Given the description of an element on the screen output the (x, y) to click on. 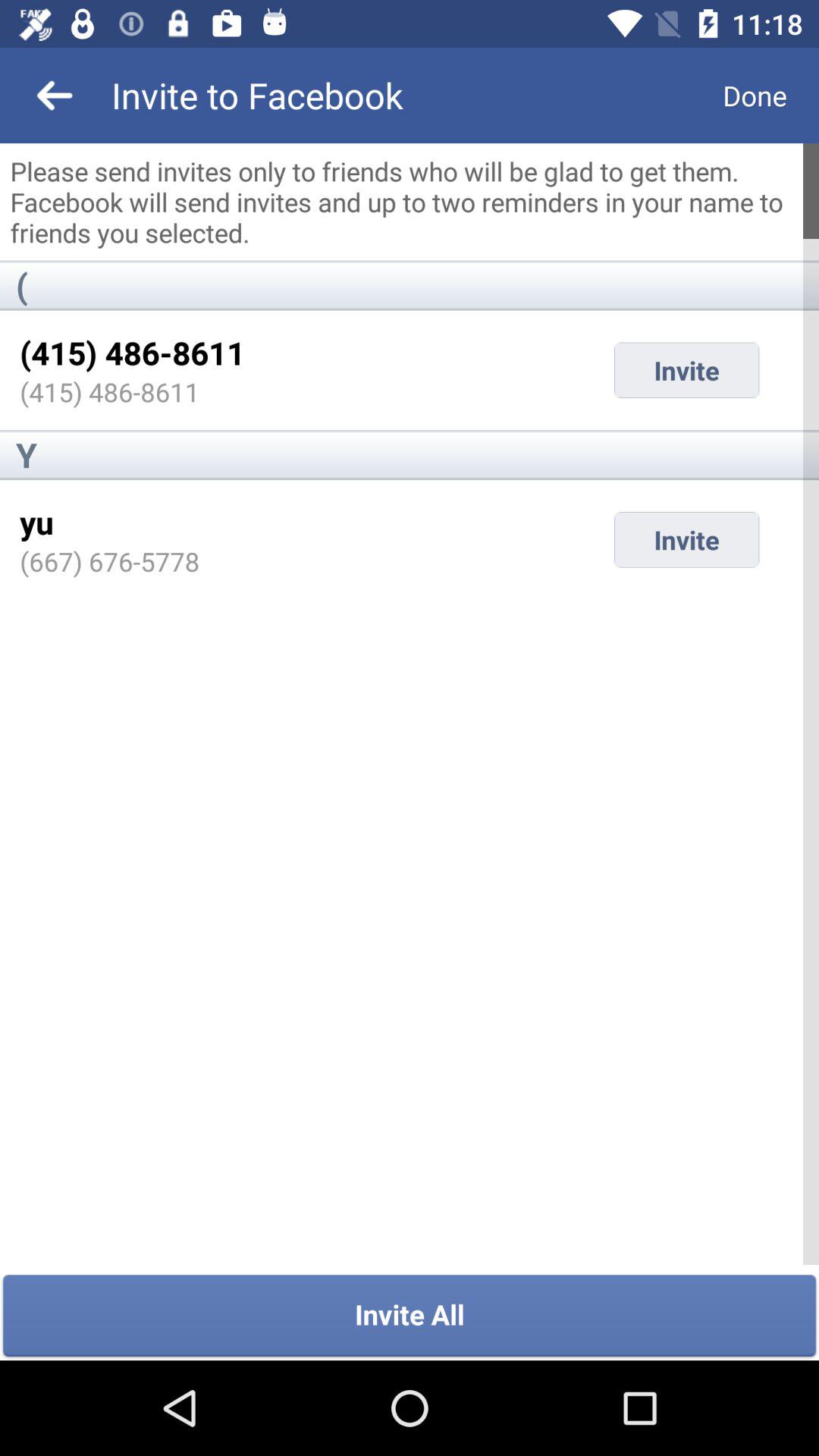
choose icon above the ( item (409, 201)
